Given the description of an element on the screen output the (x, y) to click on. 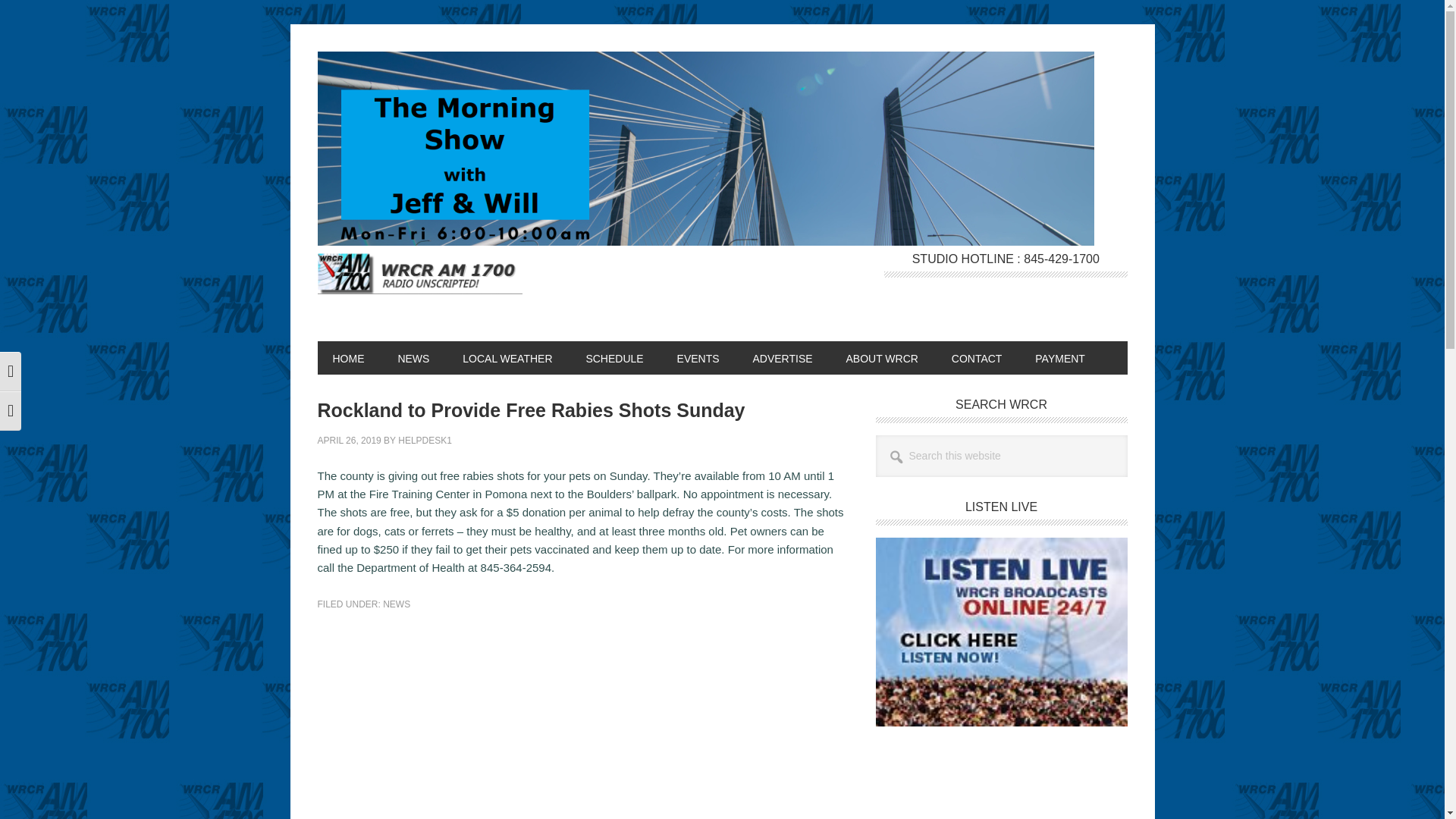
CONTACT (976, 357)
SCHEDULE (614, 357)
LOCAL WEATHER (506, 357)
HELPDESK1 (424, 439)
ABOUT WRCR (881, 357)
PAYMENT (1060, 357)
WRCR AM 1700 (419, 283)
HOME (347, 357)
NEWS (412, 357)
